Given the description of an element on the screen output the (x, y) to click on. 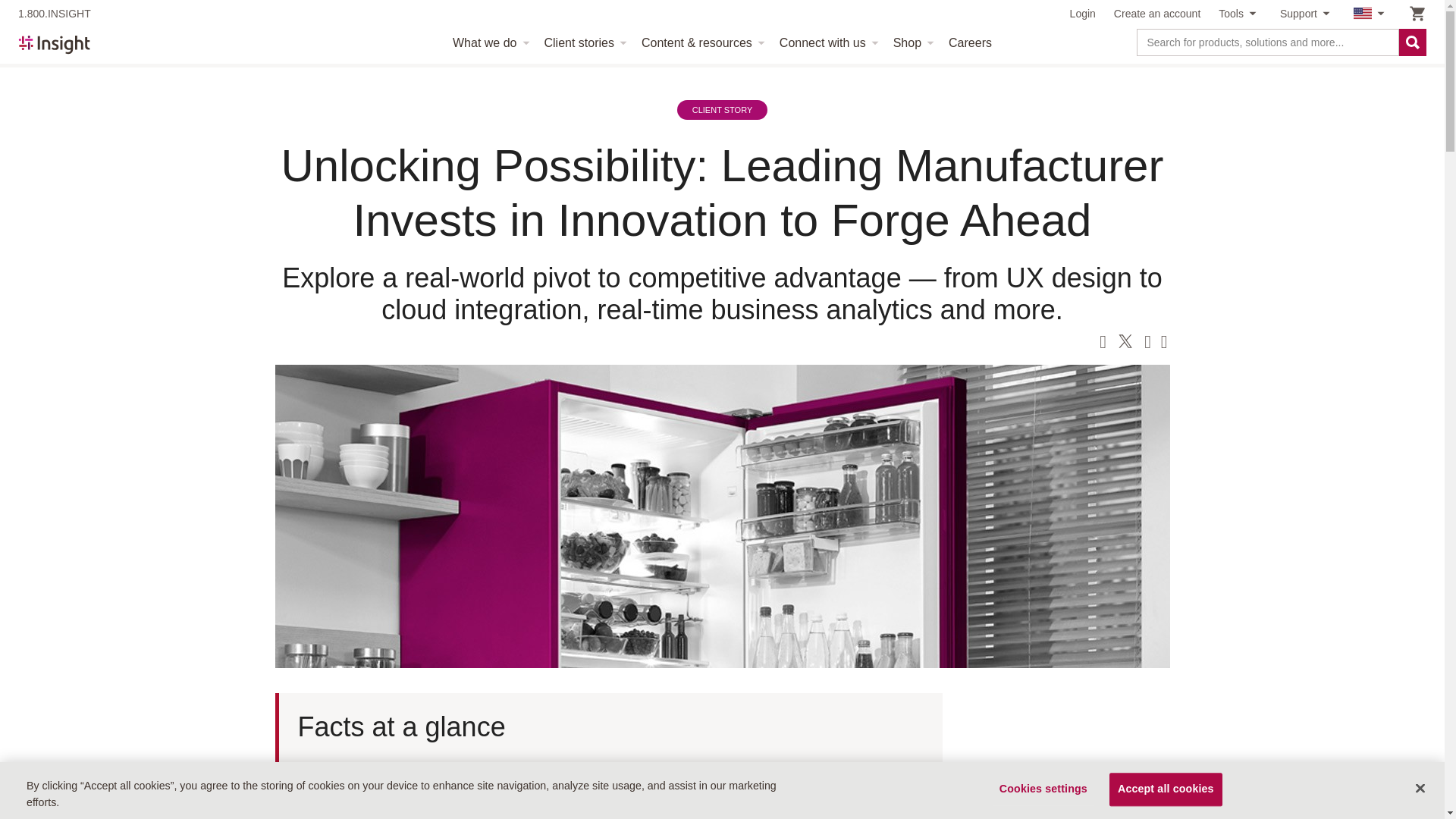
Create an account (1156, 13)
What we do (489, 42)
Shopping cart (1416, 13)
Shop (911, 42)
Support (1307, 13)
Connect with us (826, 42)
Careers (970, 42)
Tools (1240, 13)
1.800.INSIGHT (53, 13)
Client stories (583, 42)
Login (1083, 13)
